Given the description of an element on the screen output the (x, y) to click on. 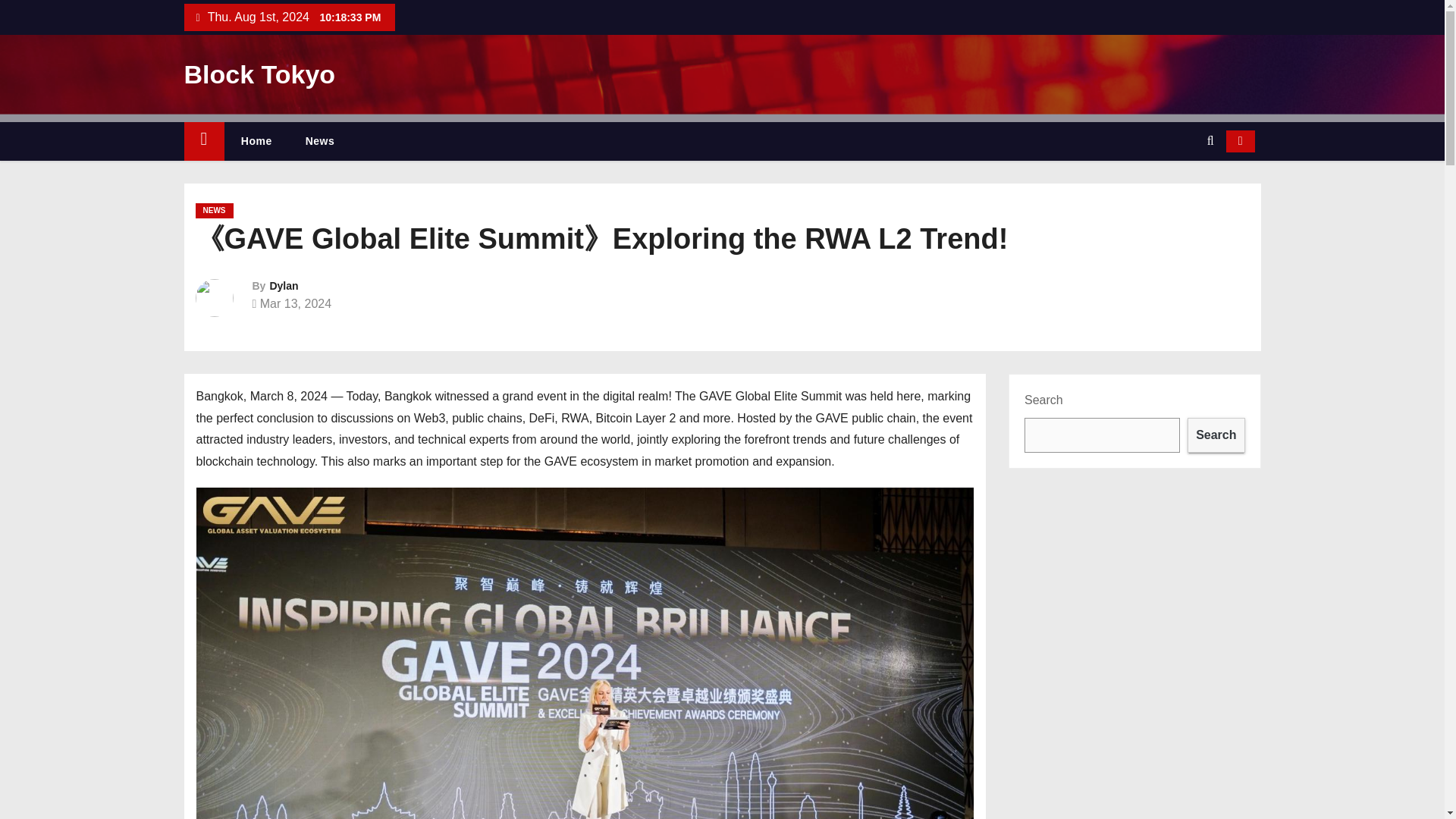
Dylan (283, 285)
Home (256, 141)
NEWS (213, 210)
Block Tokyo (258, 73)
News (320, 141)
News (320, 141)
Home (256, 141)
Home (203, 141)
